Given the description of an element on the screen output the (x, y) to click on. 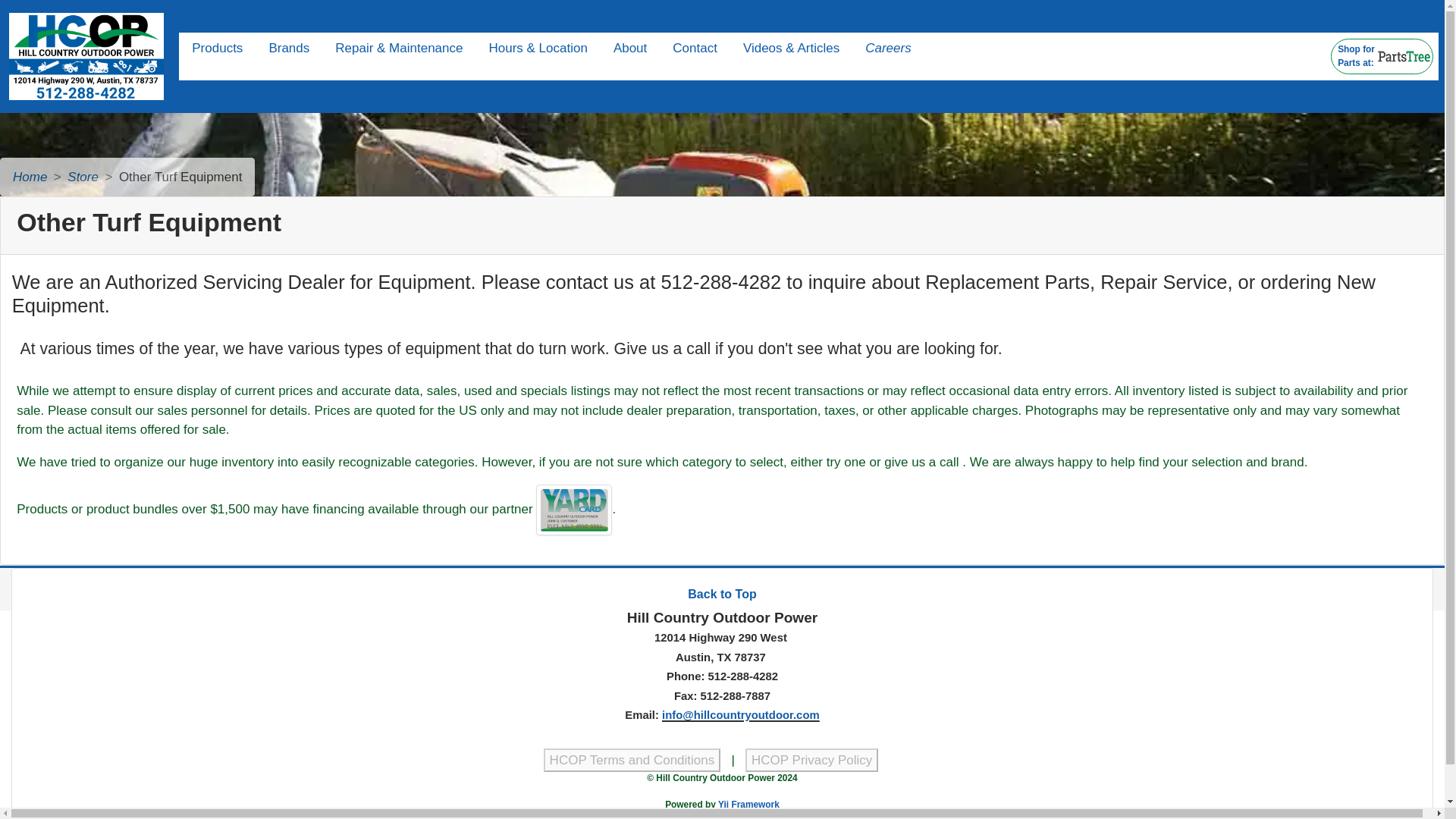
HCOP Privacy Policy (811, 760)
Products (217, 48)
PartsTree Store (1404, 56)
Home (29, 176)
Yii Framework (747, 804)
Contact (694, 48)
Store (82, 176)
Brands (288, 48)
YardCard Financing (1382, 56)
Careers (573, 509)
Back to Top (887, 48)
August Background (721, 594)
About (631, 760)
